Given the description of an element on the screen output the (x, y) to click on. 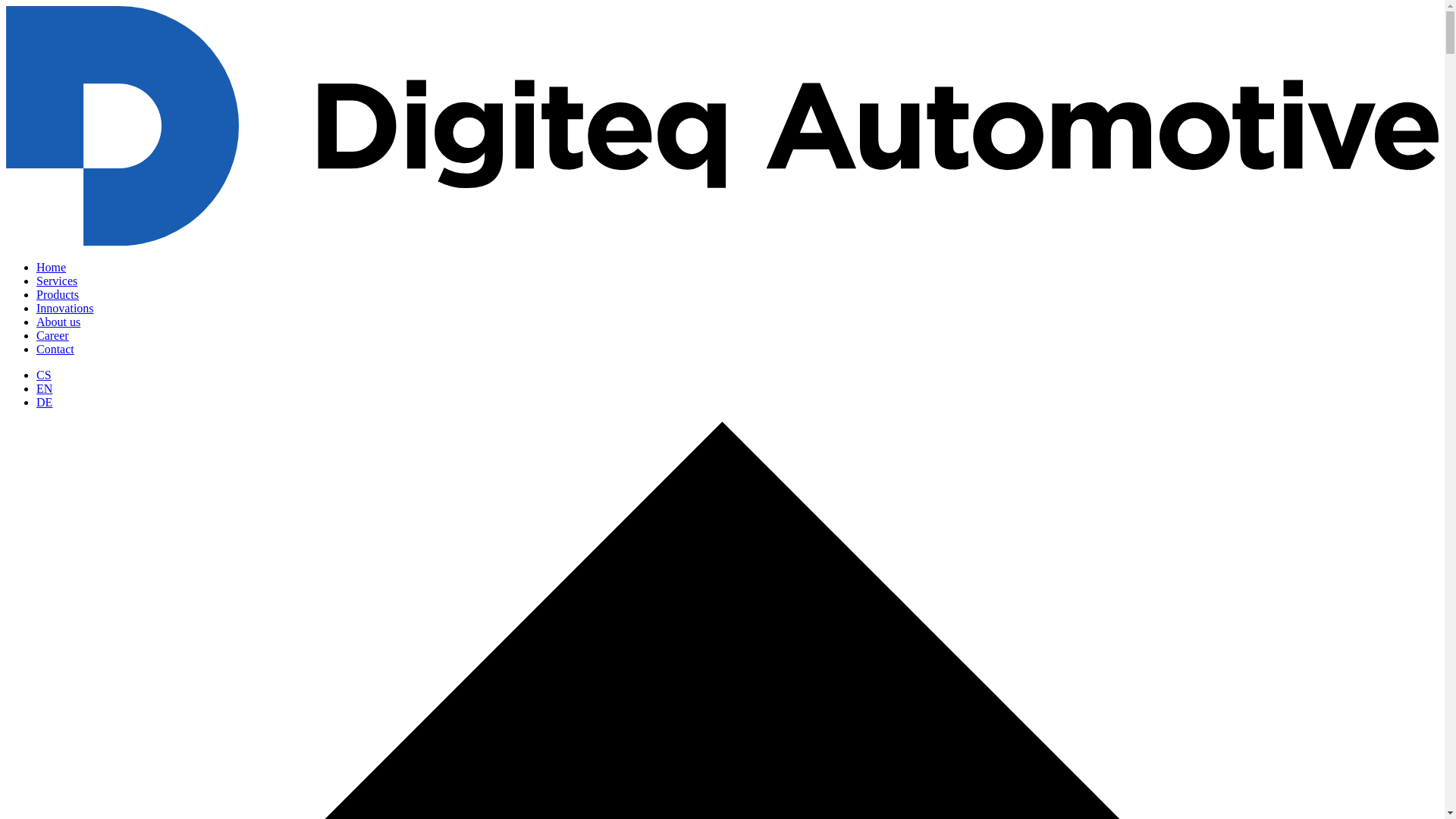
Career (52, 335)
Contact (55, 349)
Services (56, 280)
Products (57, 294)
DE (44, 401)
Home (50, 267)
CS (43, 374)
EN (44, 388)
Innovations (65, 308)
